Given the description of an element on the screen output the (x, y) to click on. 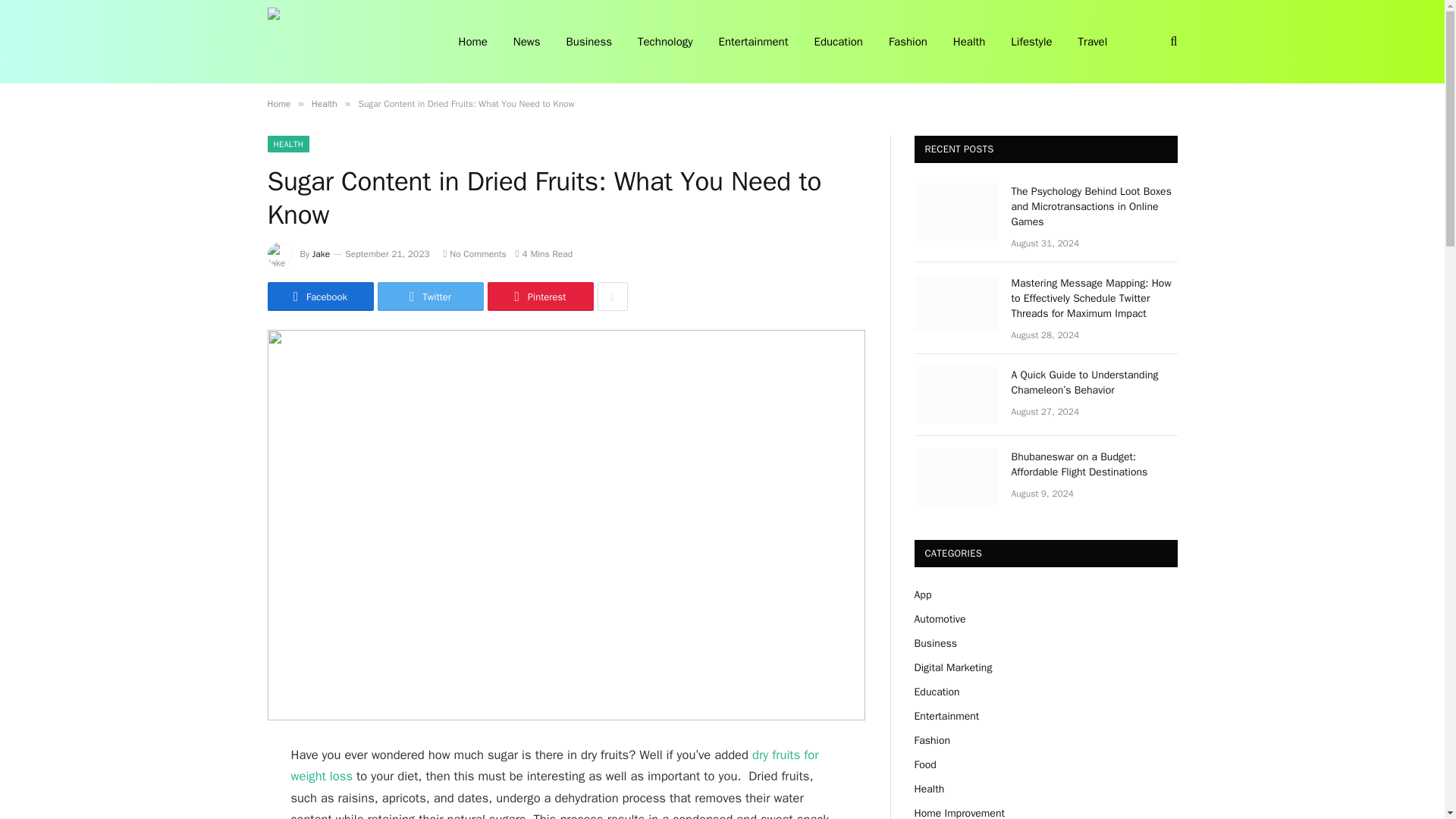
Home (277, 103)
dry fruits for weight loss (554, 764)
Technology (665, 41)
Masstamilan (342, 41)
Pinterest (539, 296)
HEALTH (287, 143)
No Comments (475, 254)
Show More Social Sharing (611, 296)
Entertainment (754, 41)
Facebook (319, 296)
